Given the description of an element on the screen output the (x, y) to click on. 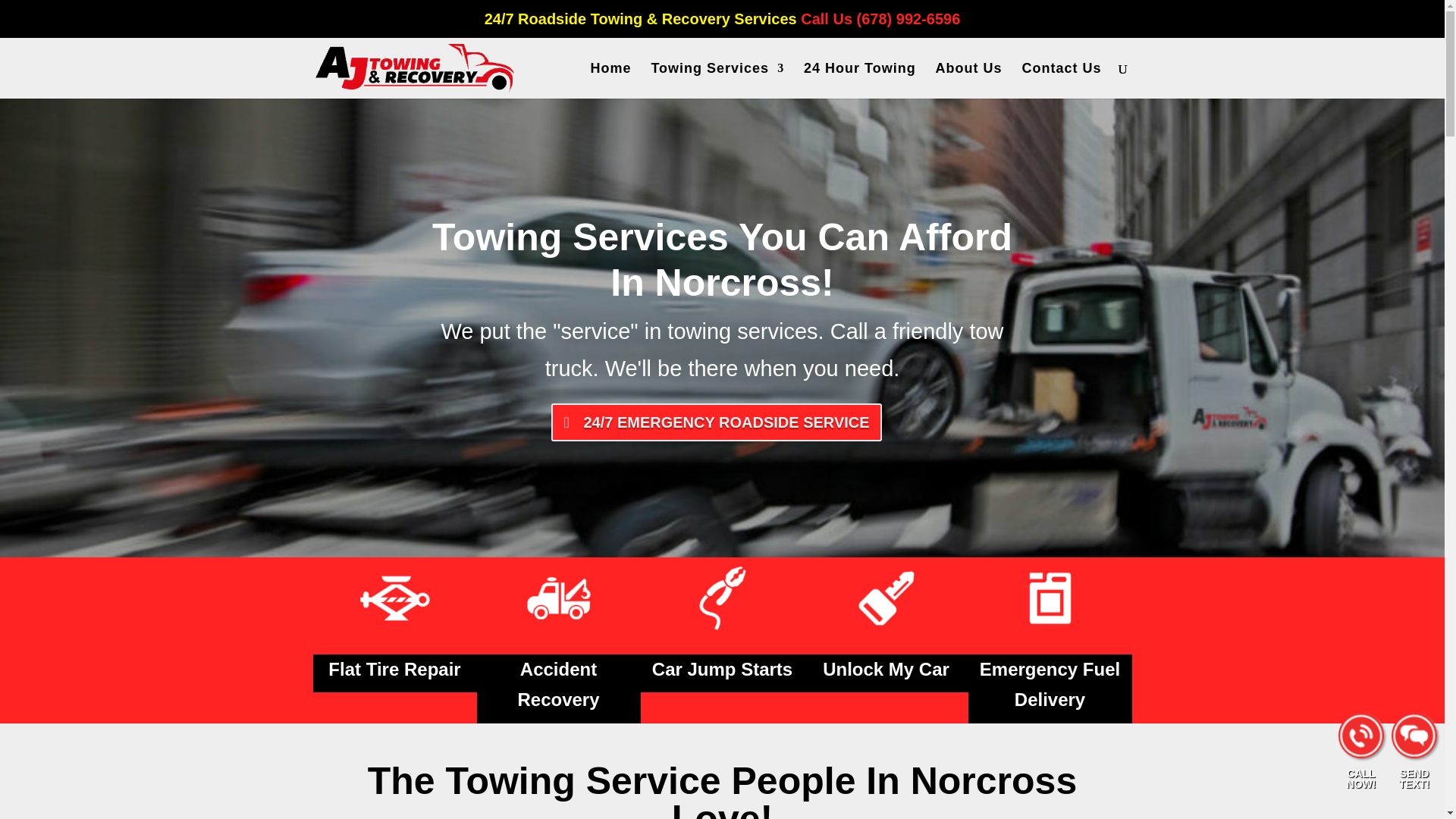
Towing Services (717, 80)
SEND TEXT! (1414, 776)
Contact Us (1061, 80)
CALL NOW! (1360, 776)
Home (611, 80)
24 Hour Towing (859, 80)
About Us (969, 80)
